Given the description of an element on the screen output the (x, y) to click on. 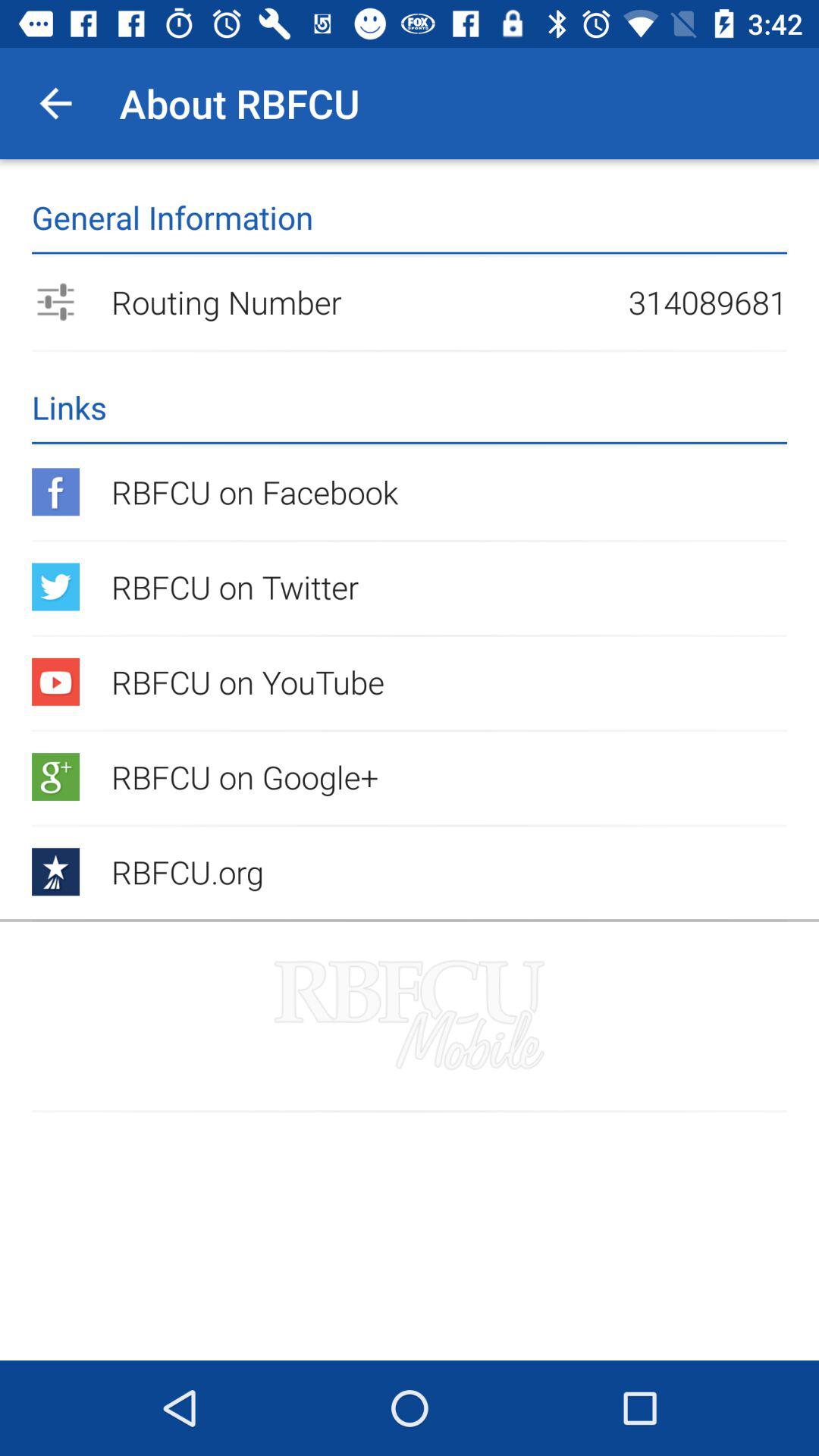
press app next to about rbfcu app (55, 103)
